Given the description of an element on the screen output the (x, y) to click on. 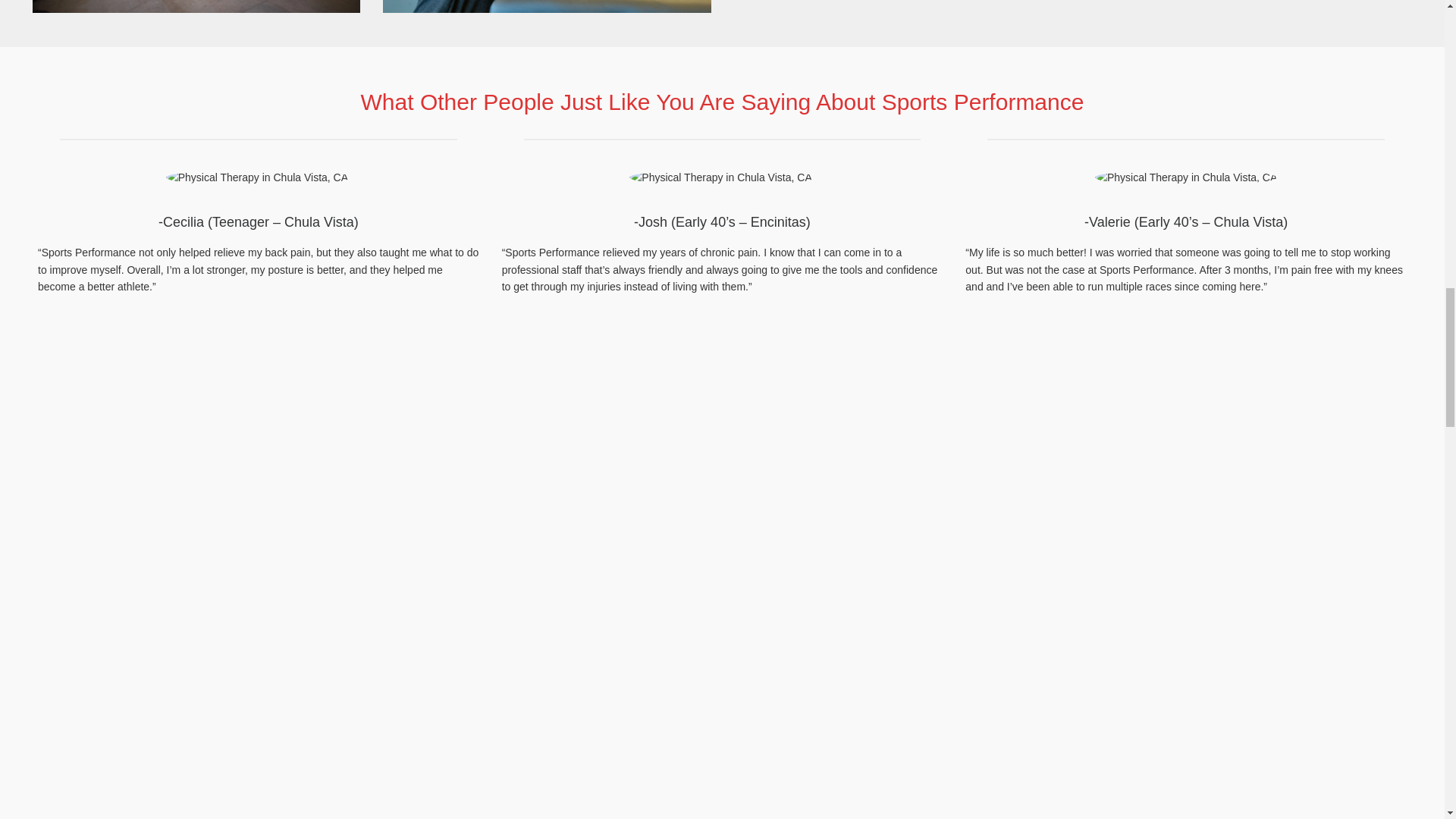
Physical Therapy In Chula Vista, CA (195, 6)
Physical Therapy in Chula Vista, CA (1185, 176)
